Given the description of an element on the screen output the (x, y) to click on. 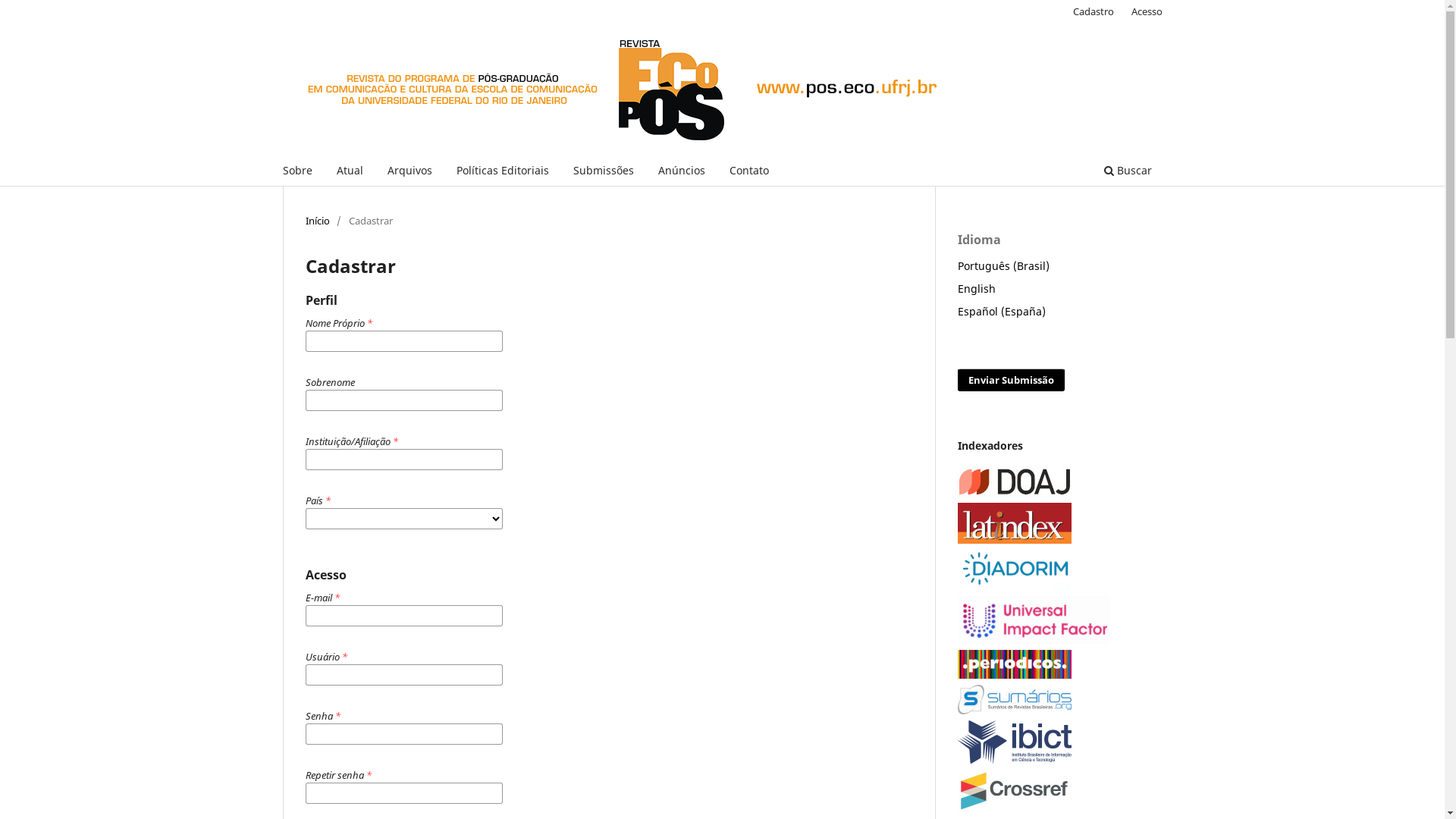
Contato Element type: text (748, 172)
English Element type: text (975, 288)
Arquivos Element type: text (409, 172)
Sobre Element type: text (297, 172)
Buscar Element type: text (1127, 172)
Cadastro Element type: text (1093, 11)
Atual Element type: text (348, 172)
Acesso Element type: text (1146, 11)
